Given the description of an element on the screen output the (x, y) to click on. 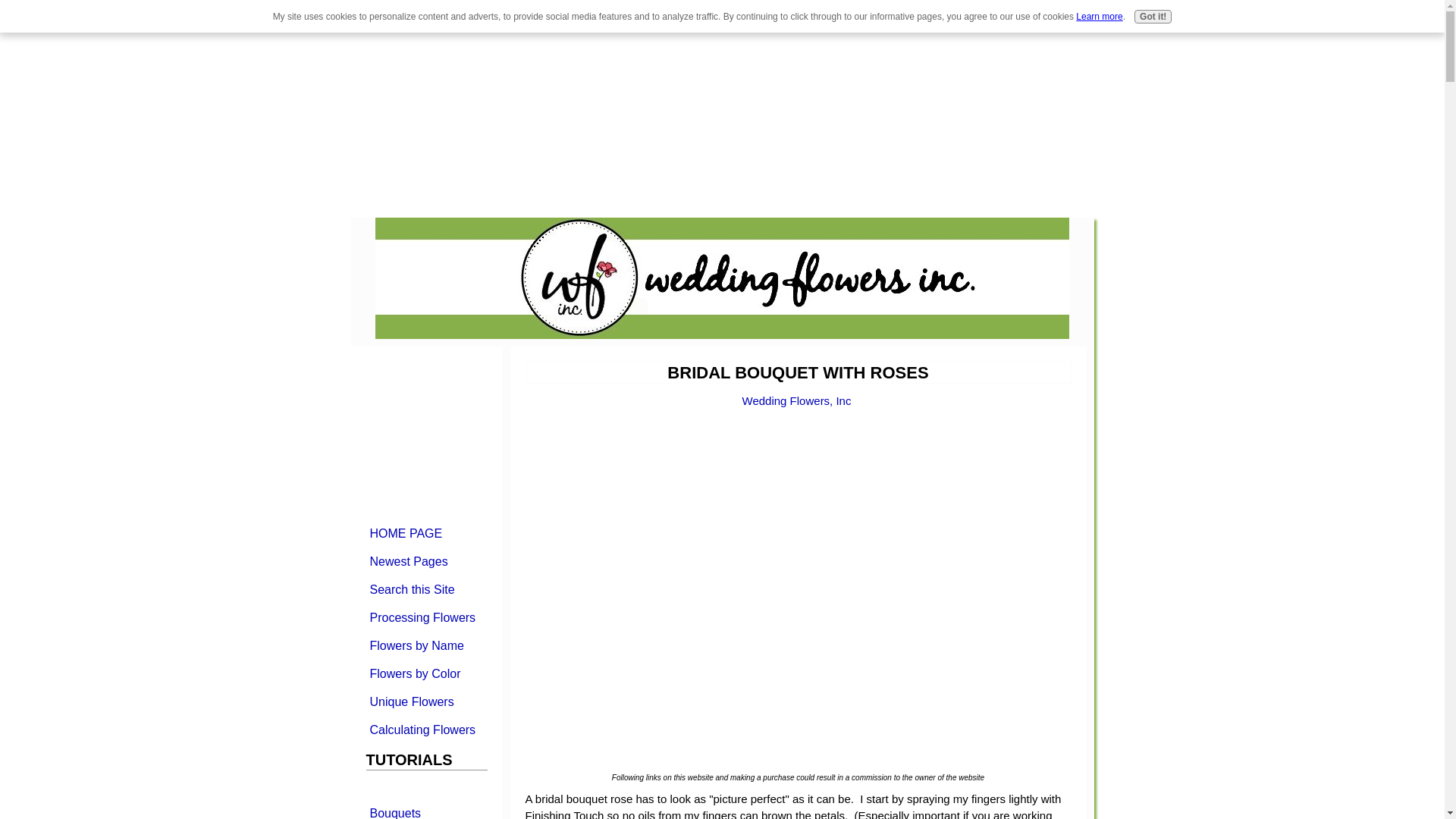
Search this Site (425, 588)
Calculating Flowers (425, 729)
Unique Flowers (425, 701)
Processing Flowers (425, 617)
Flowers by Name (425, 645)
Wedding Flowers, Inc (796, 400)
Advertisement (127, 106)
HOME PAGE (425, 533)
Bouquets (425, 809)
Flowers by Color (425, 673)
Newest Pages (425, 561)
